Given the description of an element on the screen output the (x, y) to click on. 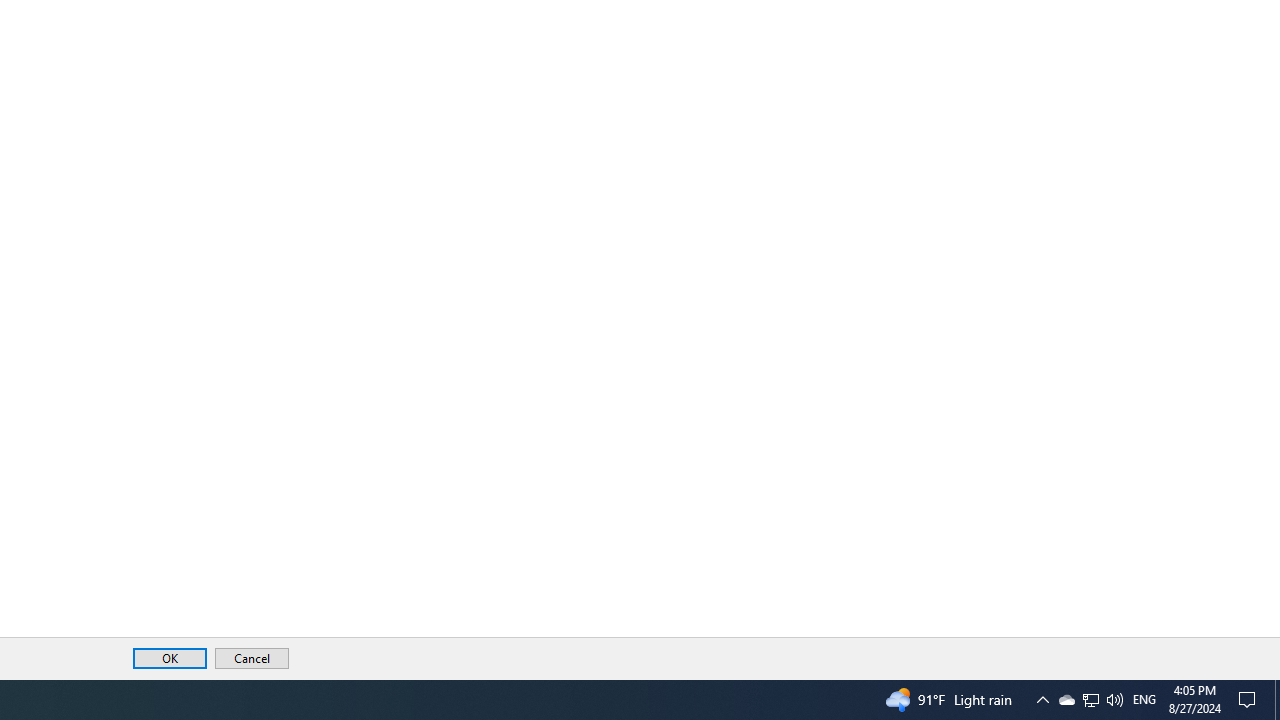
OK (169, 658)
Cancel (251, 658)
